Given the description of an element on the screen output the (x, y) to click on. 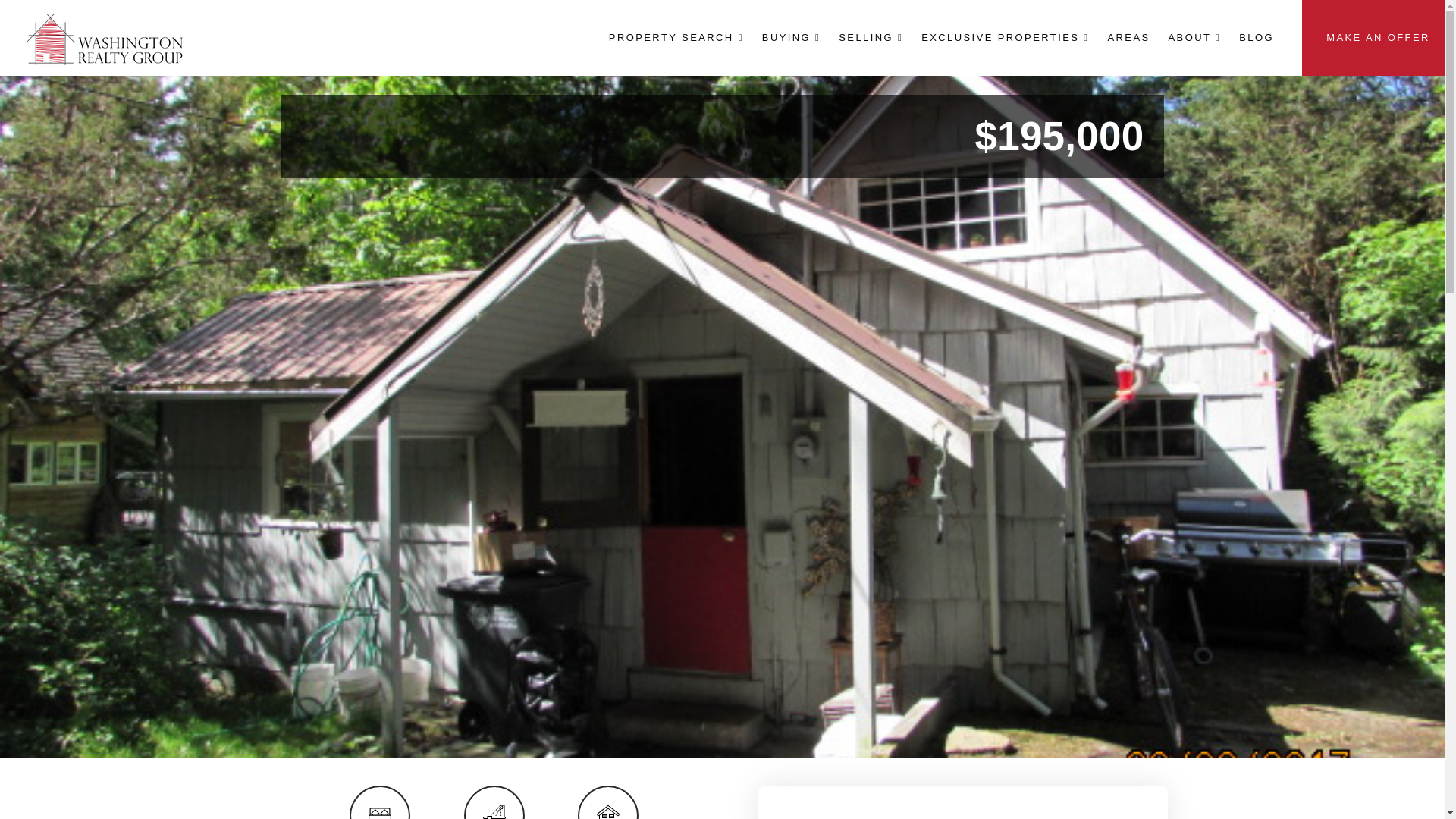
BUYING (790, 37)
AREAS (1127, 37)
SELLING (870, 37)
ABOUT (1194, 37)
PROPERTY SEARCH (675, 37)
EXCLUSIVE PROPERTIES (1004, 37)
